Given the description of an element on the screen output the (x, y) to click on. 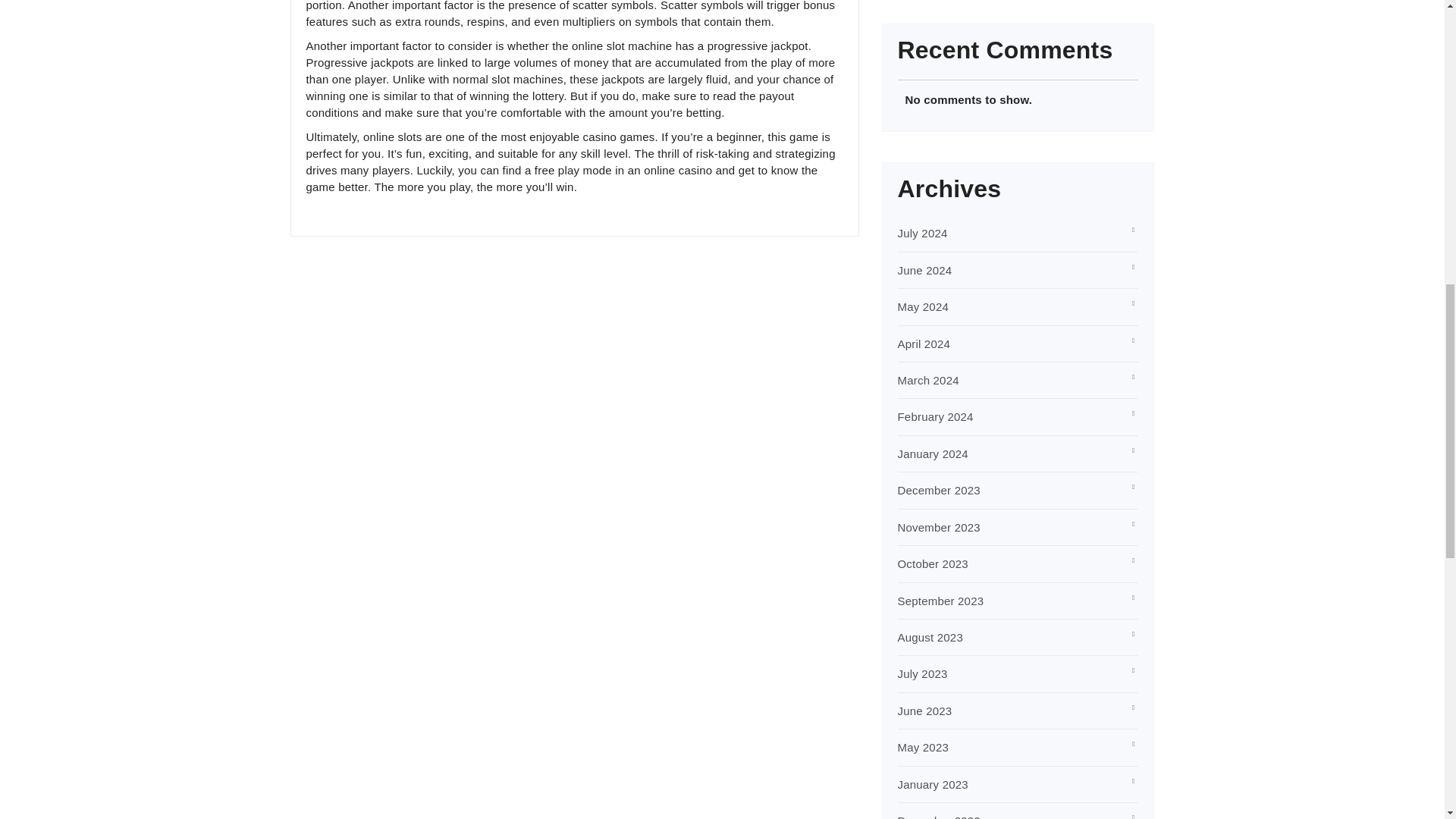
September 2023 (941, 600)
June 2024 (925, 269)
January 2024 (933, 453)
March 2024 (928, 379)
December 2023 (938, 490)
July 2024 (922, 232)
May 2024 (923, 306)
November 2023 (938, 526)
February 2024 (936, 416)
October 2023 (933, 563)
April 2024 (924, 343)
